Given the description of an element on the screen output the (x, y) to click on. 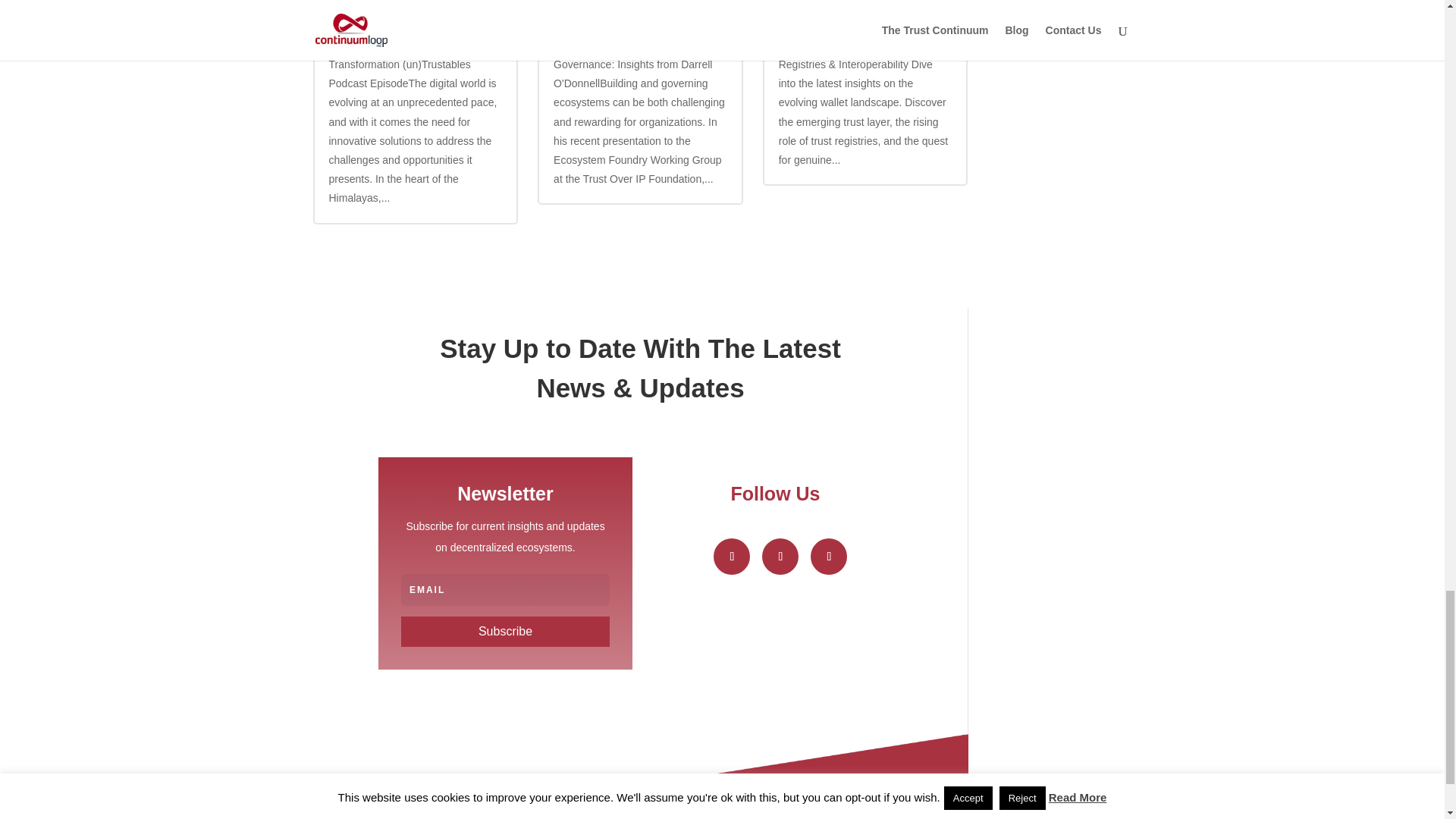
Follow on LinkedIn (731, 556)
Follow on X (779, 556)
Follow on Youtube (828, 556)
Subscribe (505, 631)
